Given the description of an element on the screen output the (x, y) to click on. 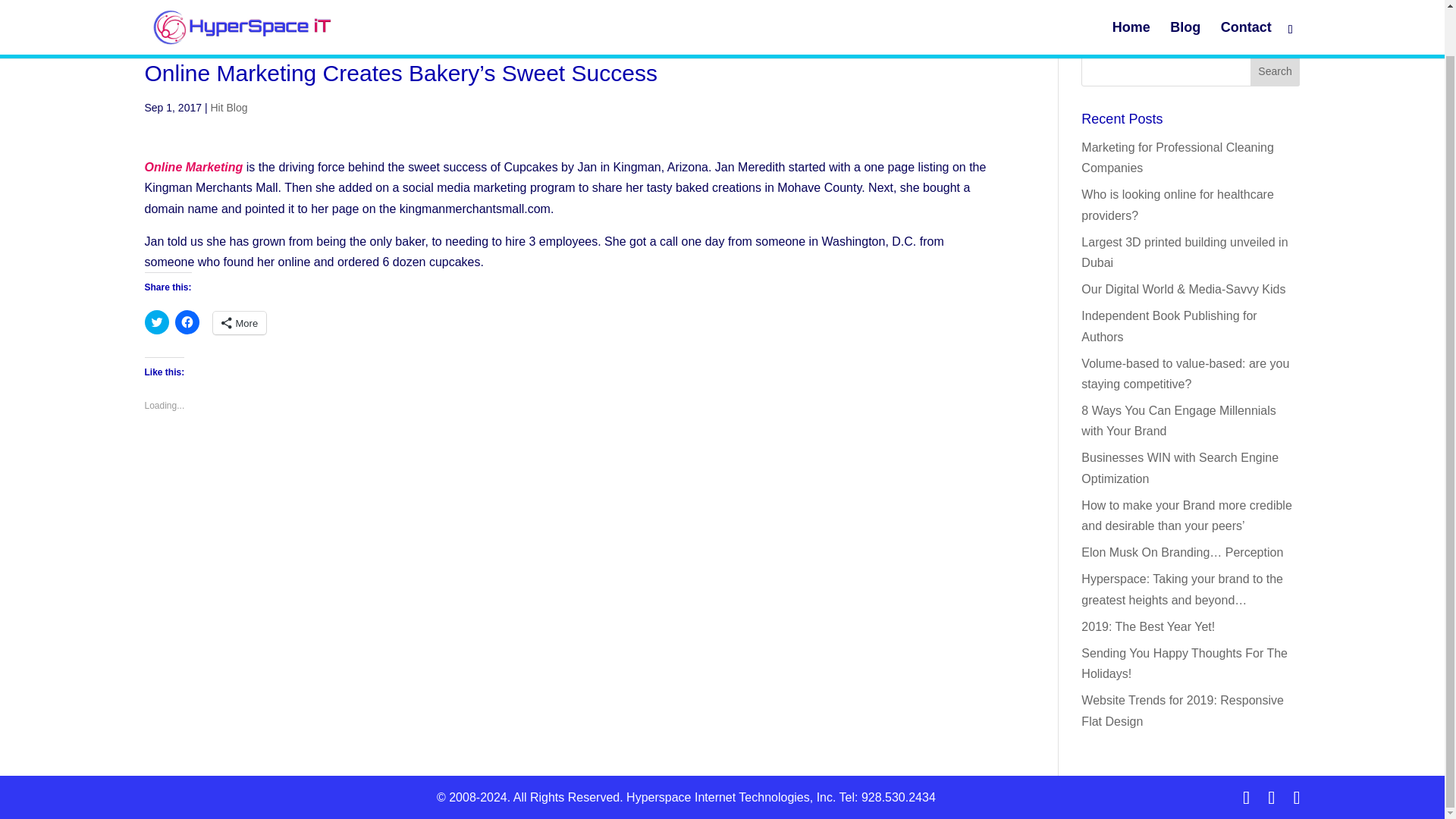
Blog (1184, 2)
Hit Blog (228, 107)
Search (1275, 71)
Contact (1246, 2)
Click to share on Twitter (156, 322)
Website Trends for 2019: Responsive Flat Design (1182, 710)
Independent Book Publishing for Authors (1168, 326)
2019: The Best Year Yet! (1147, 626)
Online Marketing (193, 166)
Home (1131, 2)
